Given the description of an element on the screen output the (x, y) to click on. 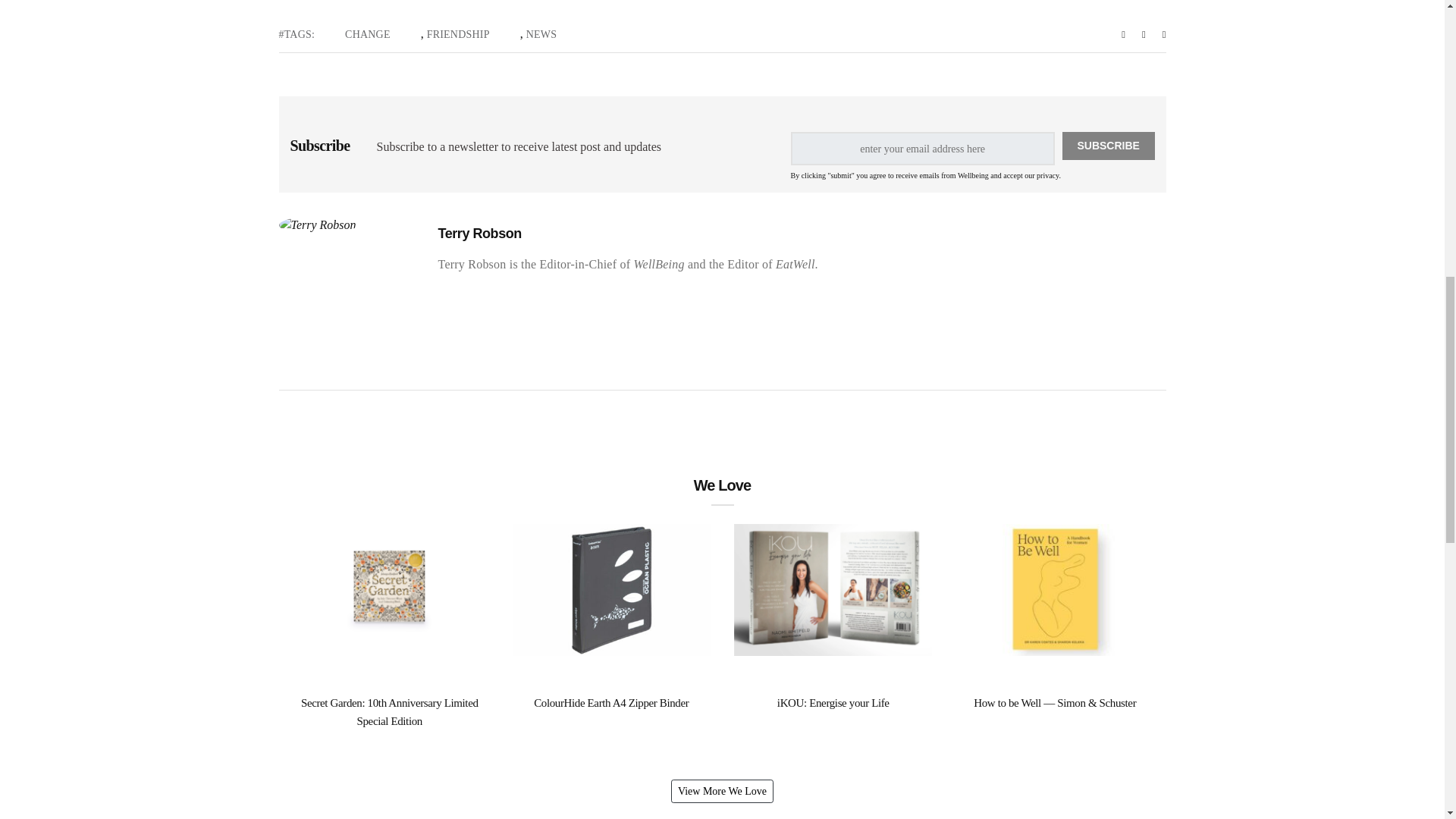
CHANGE (367, 34)
FRIENDSHIP (457, 34)
NEWS (541, 34)
View More We Love (722, 791)
SUBSCRIBE (1108, 145)
